Given the description of an element on the screen output the (x, y) to click on. 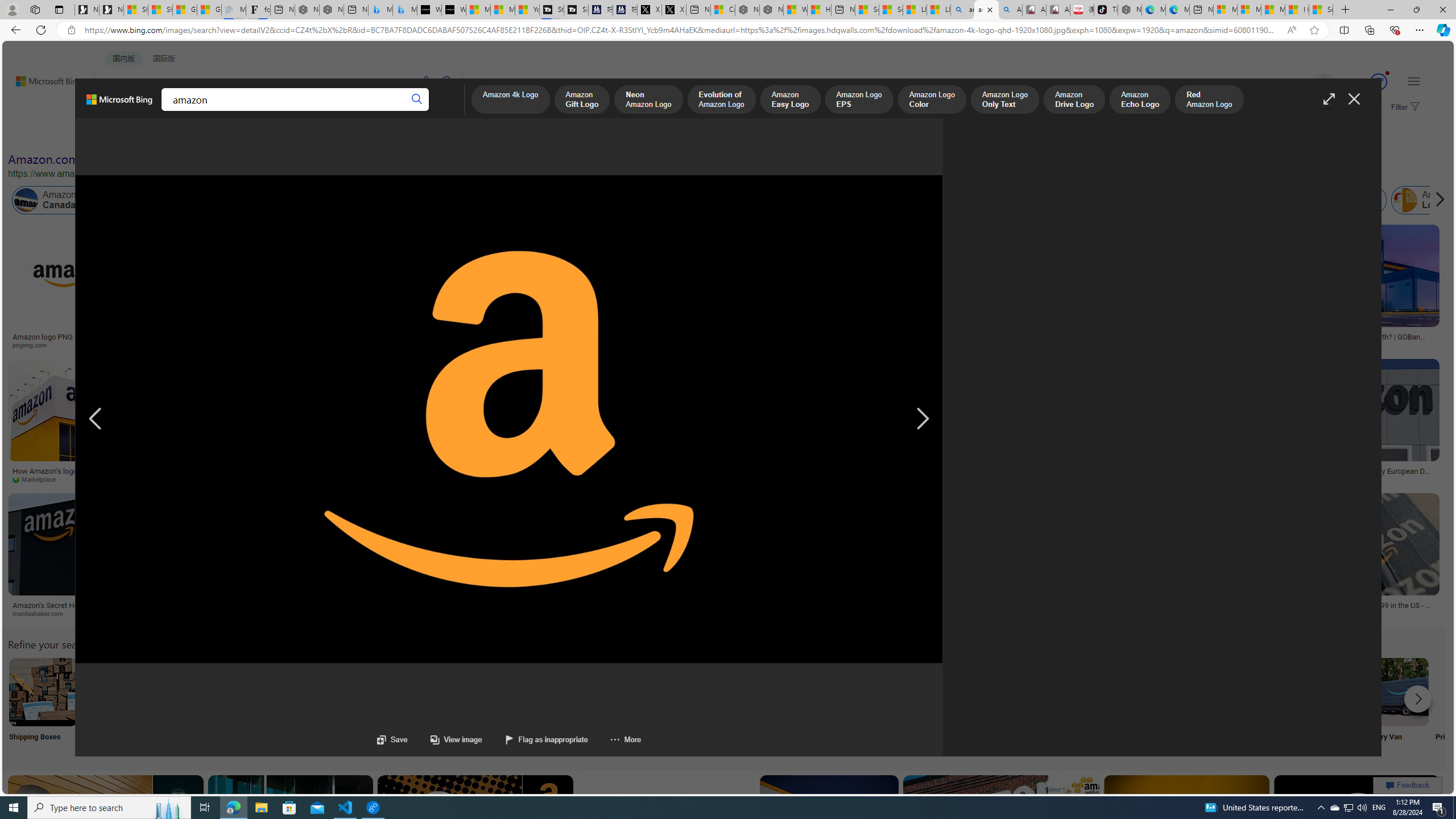
Long Island Press (267, 479)
Amazon Wish List (568, 691)
Online Shopping Search (118, 706)
Amazon 4k Logo (510, 100)
Amazonprotothema.grSave (469, 557)
Amazon Prime Label Prime Label (1018, 706)
Microsoft Bing, Back to Bing search (118, 104)
Amazon Animals (401, 200)
Visa Card Login (1093, 706)
Amazon Delivery Van Delivery Van (1393, 706)
